Given the description of an element on the screen output the (x, y) to click on. 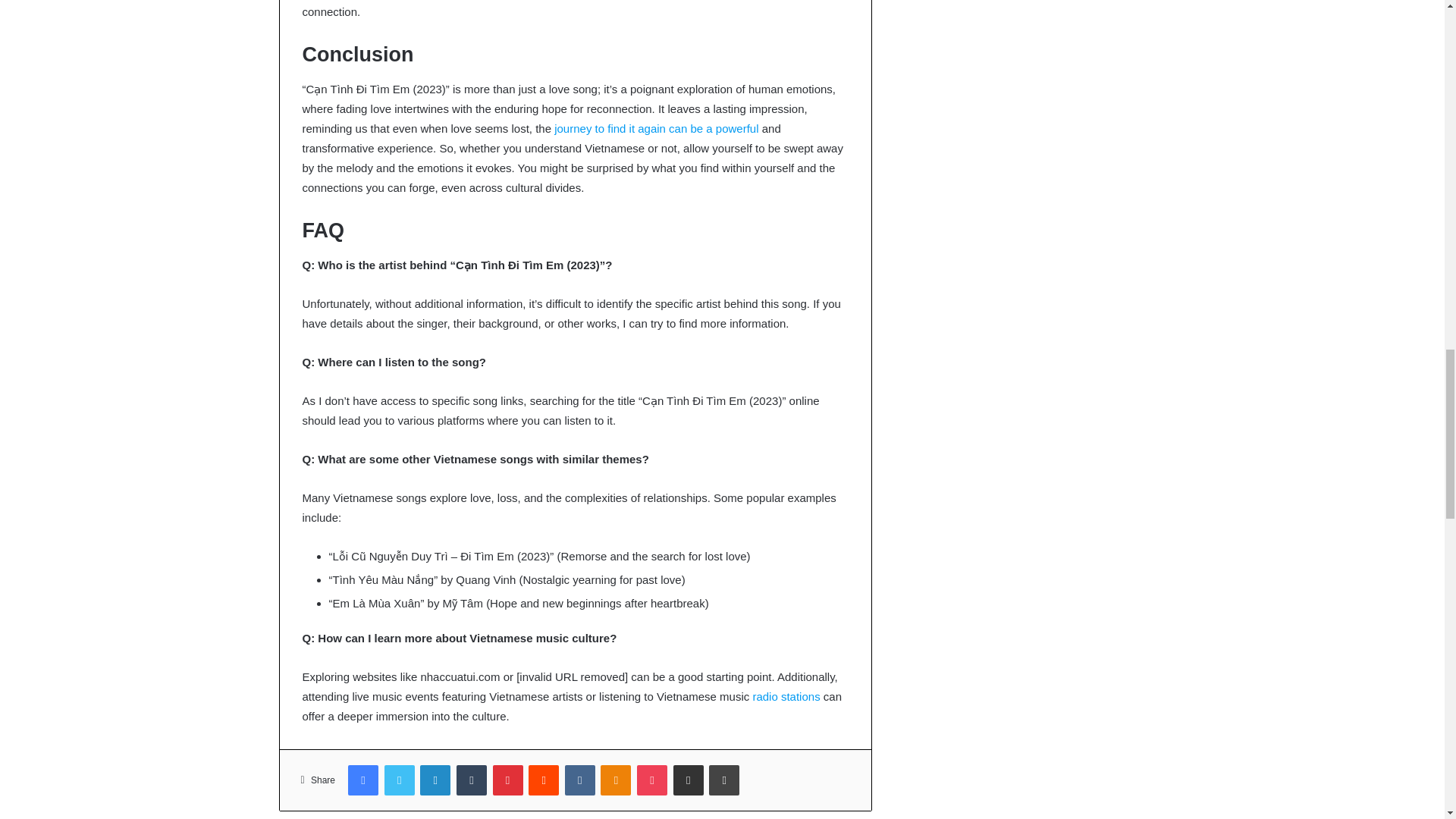
radio stations (785, 696)
Twitter (399, 779)
Facebook (362, 779)
journey to find it again can be a powerful (656, 128)
